Given the description of an element on the screen output the (x, y) to click on. 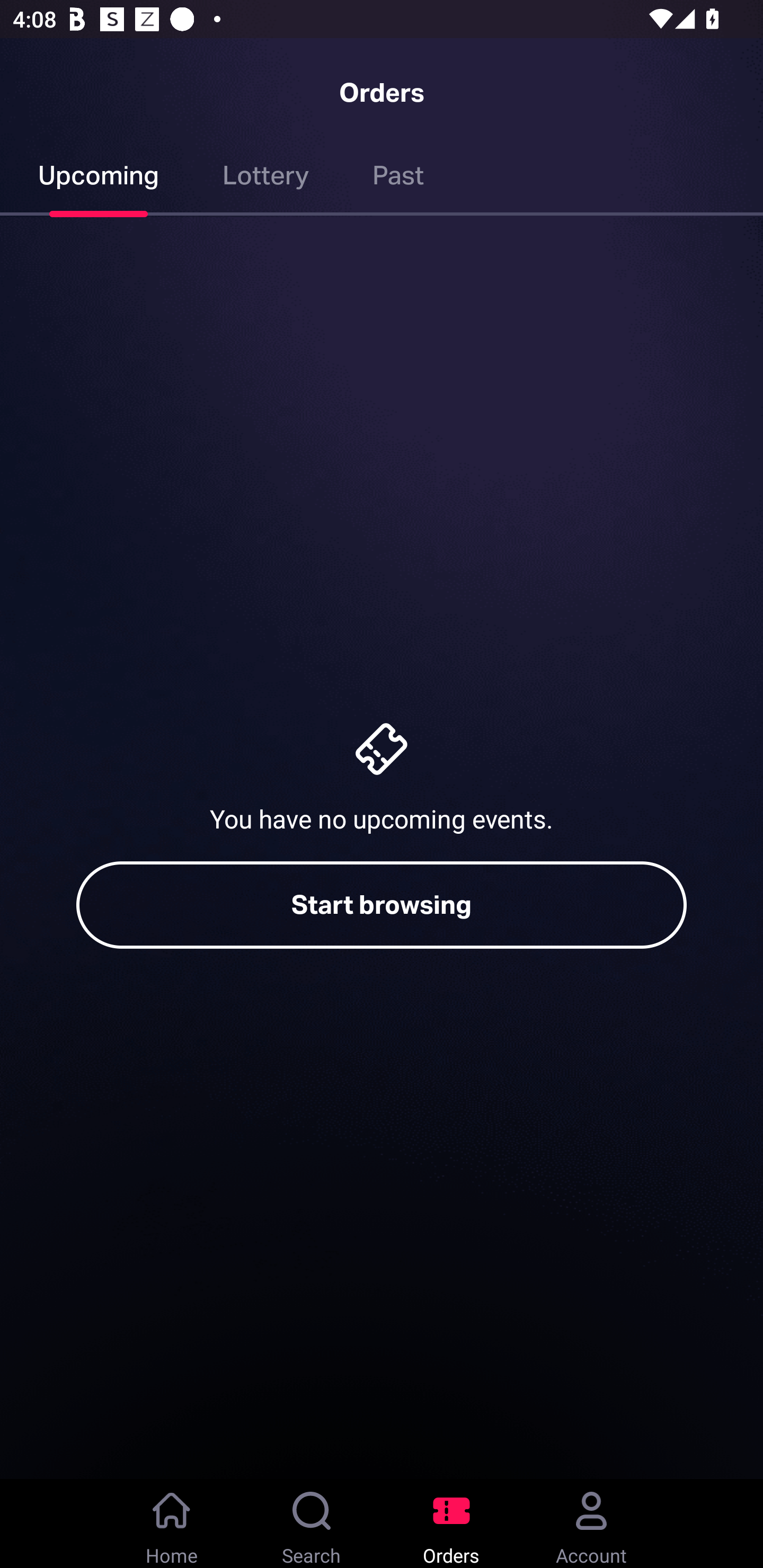
Lottery (265, 179)
Past (398, 179)
Start browsing (381, 904)
Home (171, 1523)
Search (311, 1523)
Account (591, 1523)
